Given the description of an element on the screen output the (x, y) to click on. 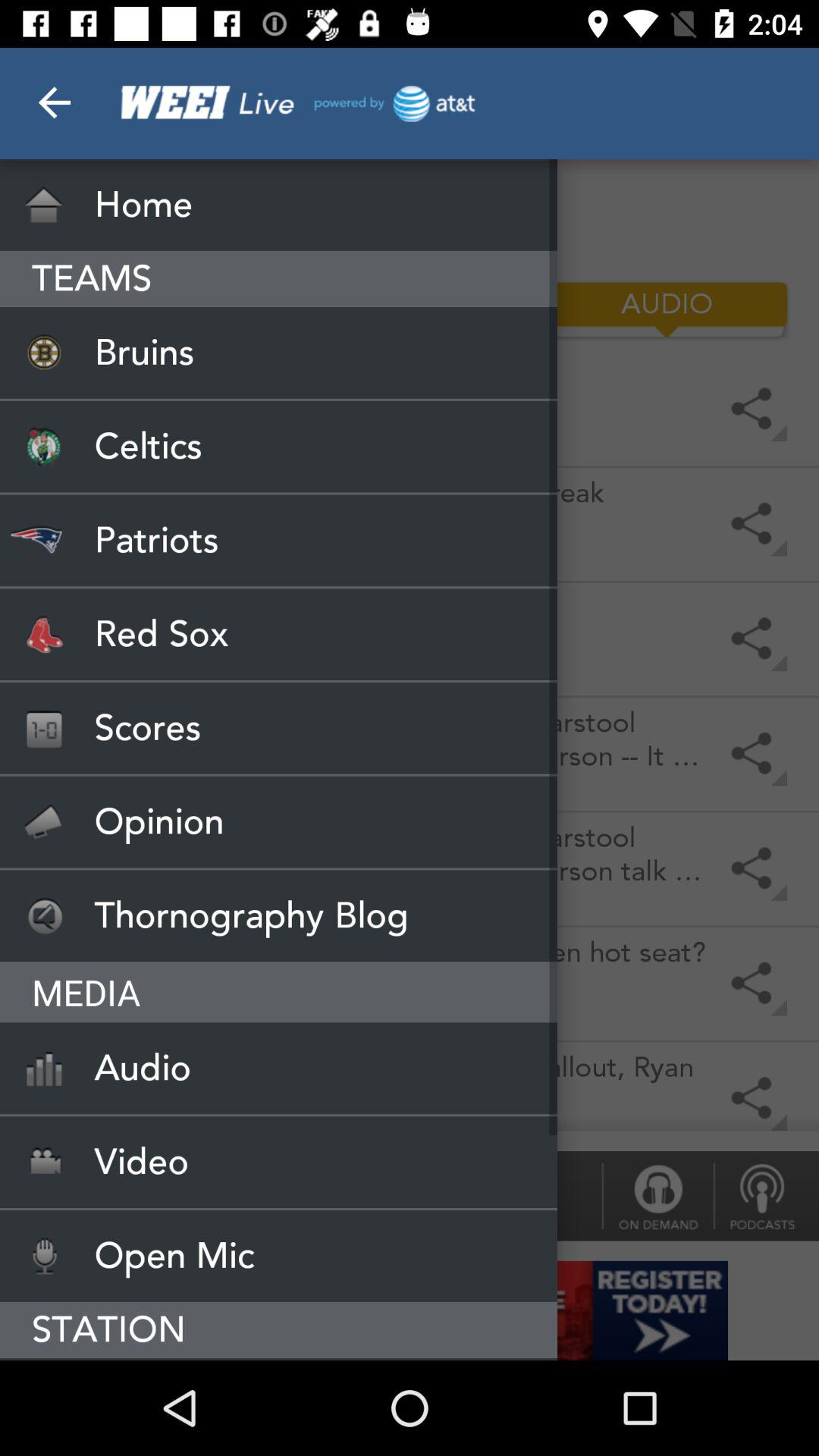
scroll to scores icon (278, 728)
